Given the description of an element on the screen output the (x, y) to click on. 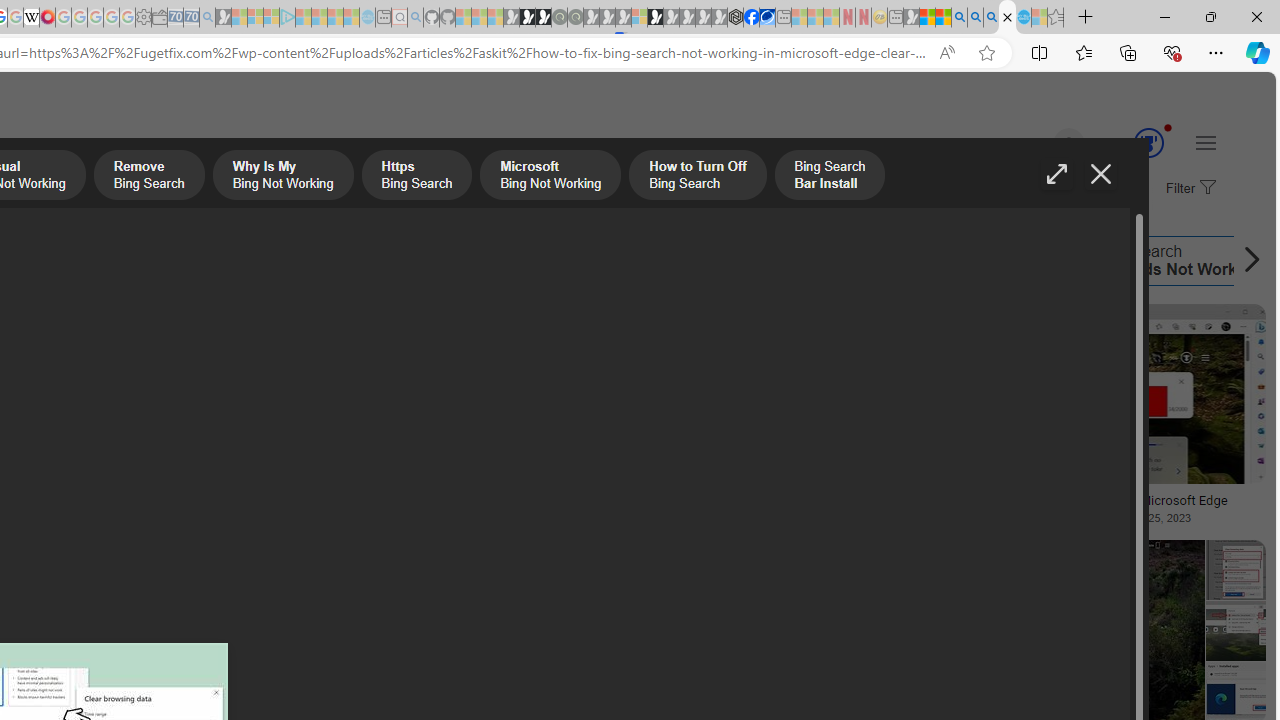
Microsoft Rewards 84 (1130, 143)
Bing Search Not Working - Search Images (1007, 17)
Cheap Car Rentals - Save70.com - Sleeping (191, 17)
Remove Bing Search (148, 177)
Bing AI - Search (959, 17)
AirNow.gov (767, 17)
Full screen (1055, 173)
AutomationID: rh_meter (1148, 142)
Future Focus Report 2024 - Sleeping (575, 17)
